Given the description of an element on the screen output the (x, y) to click on. 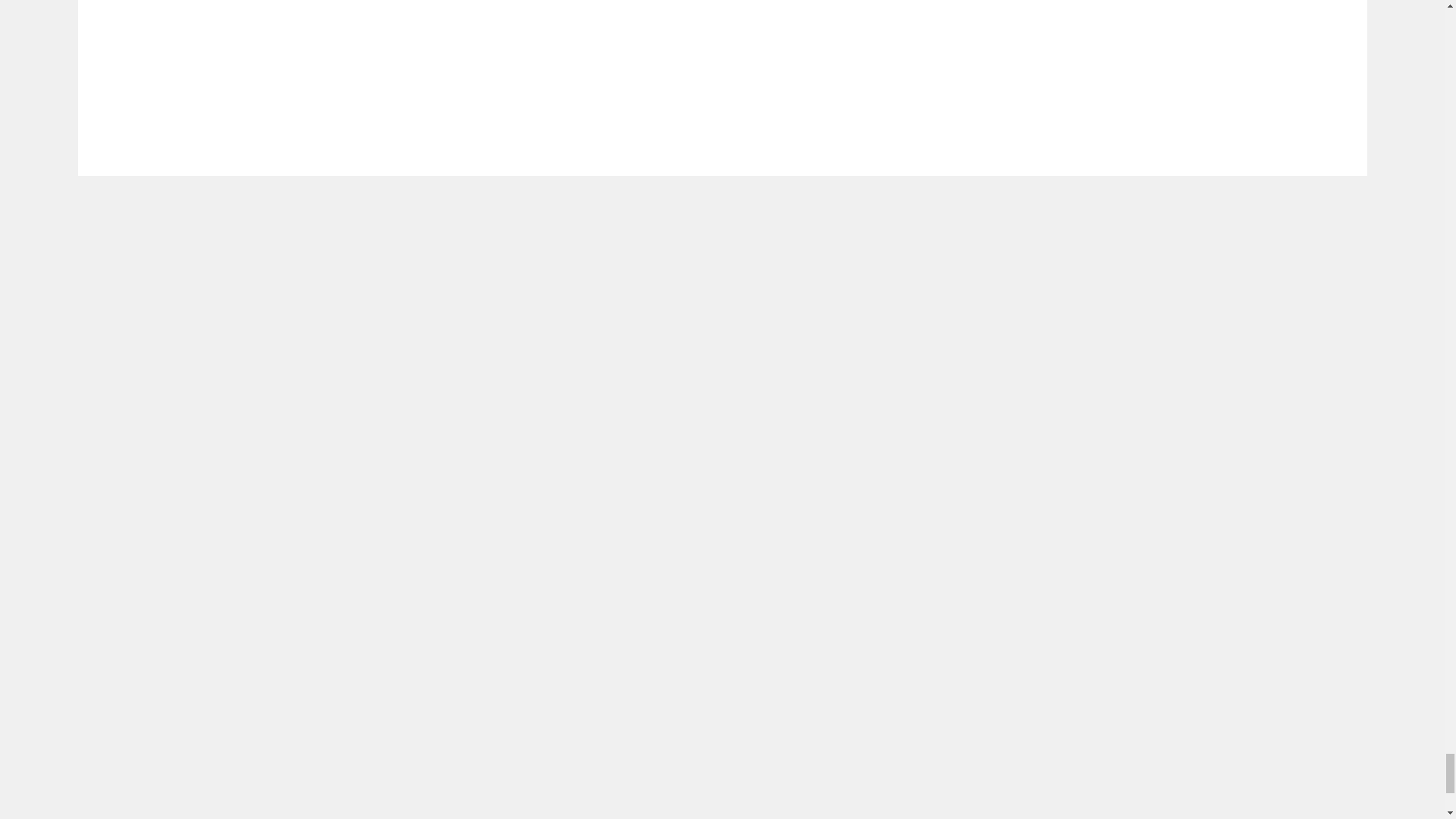
Comment Form (593, 58)
